Given the description of an element on the screen output the (x, y) to click on. 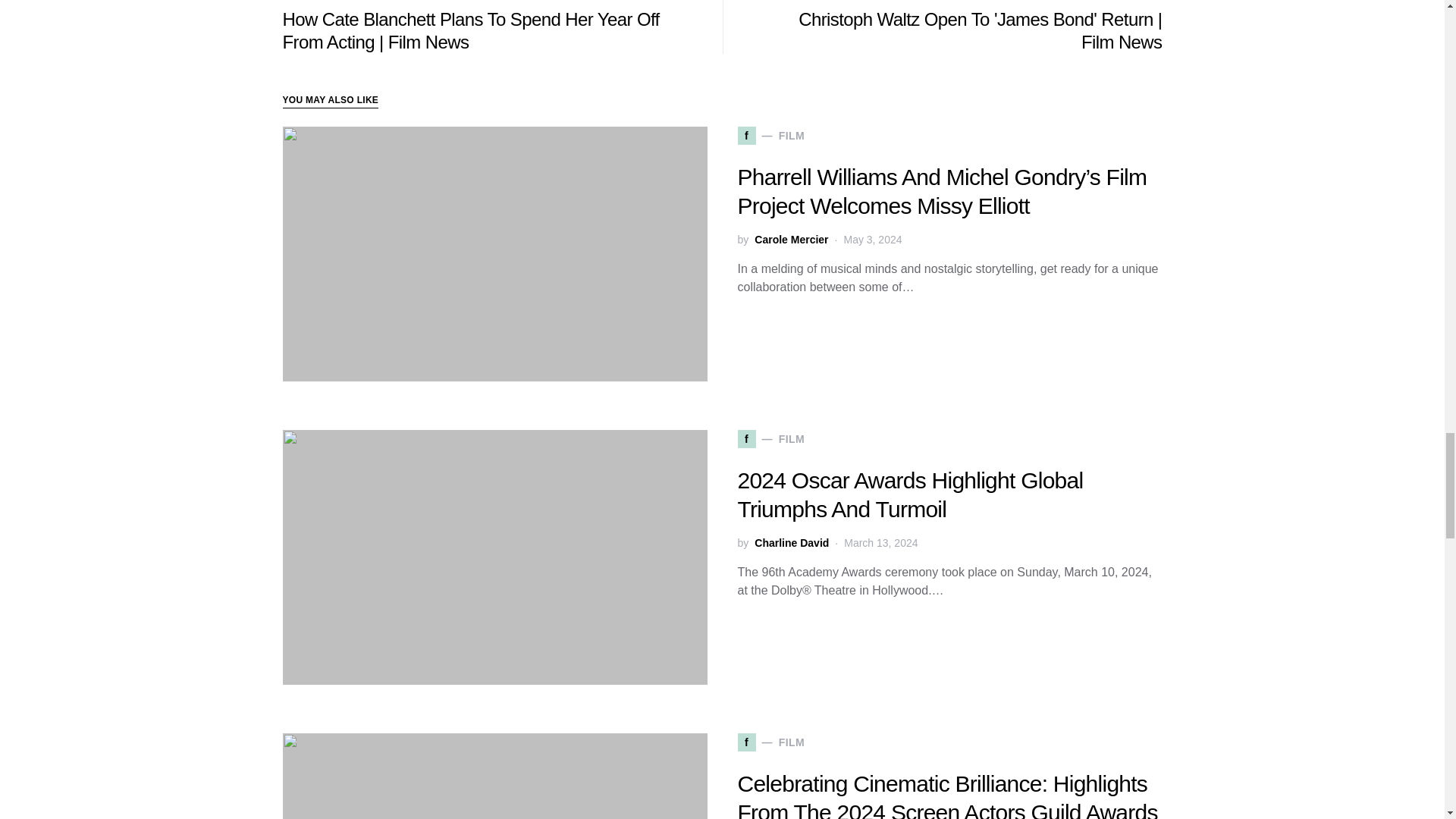
View all posts by Carole Mercier (791, 239)
View all posts by Charline David (791, 543)
